Given the description of an element on the screen output the (x, y) to click on. 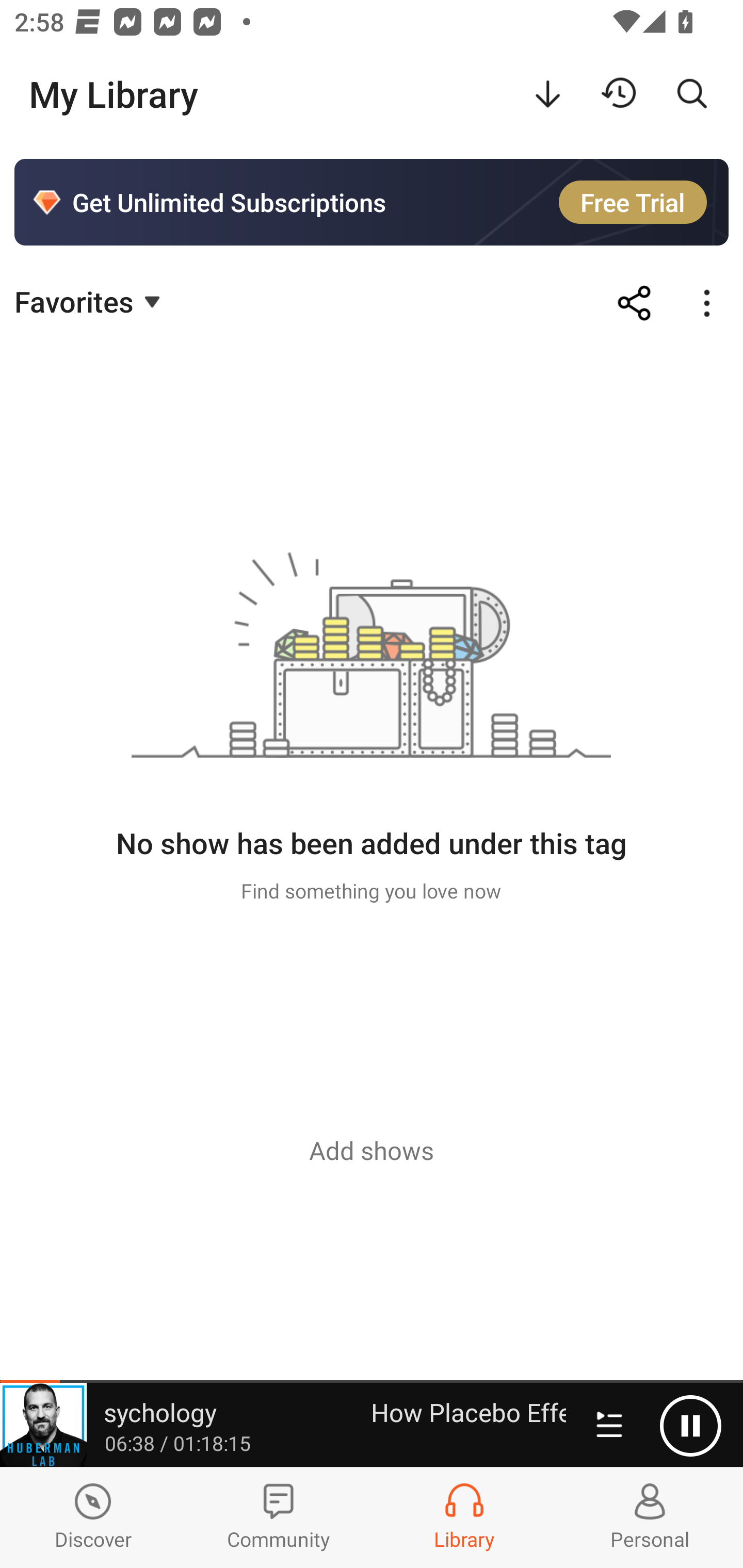
Get Unlimited Subscriptions Free Trial (371, 202)
Free Trial (632, 202)
Favorites (90, 300)
Add shows (371, 1150)
Pause (690, 1425)
Discover (92, 1517)
Community (278, 1517)
Library (464, 1517)
Profiles and Settings Personal (650, 1517)
